Given the description of an element on the screen output the (x, y) to click on. 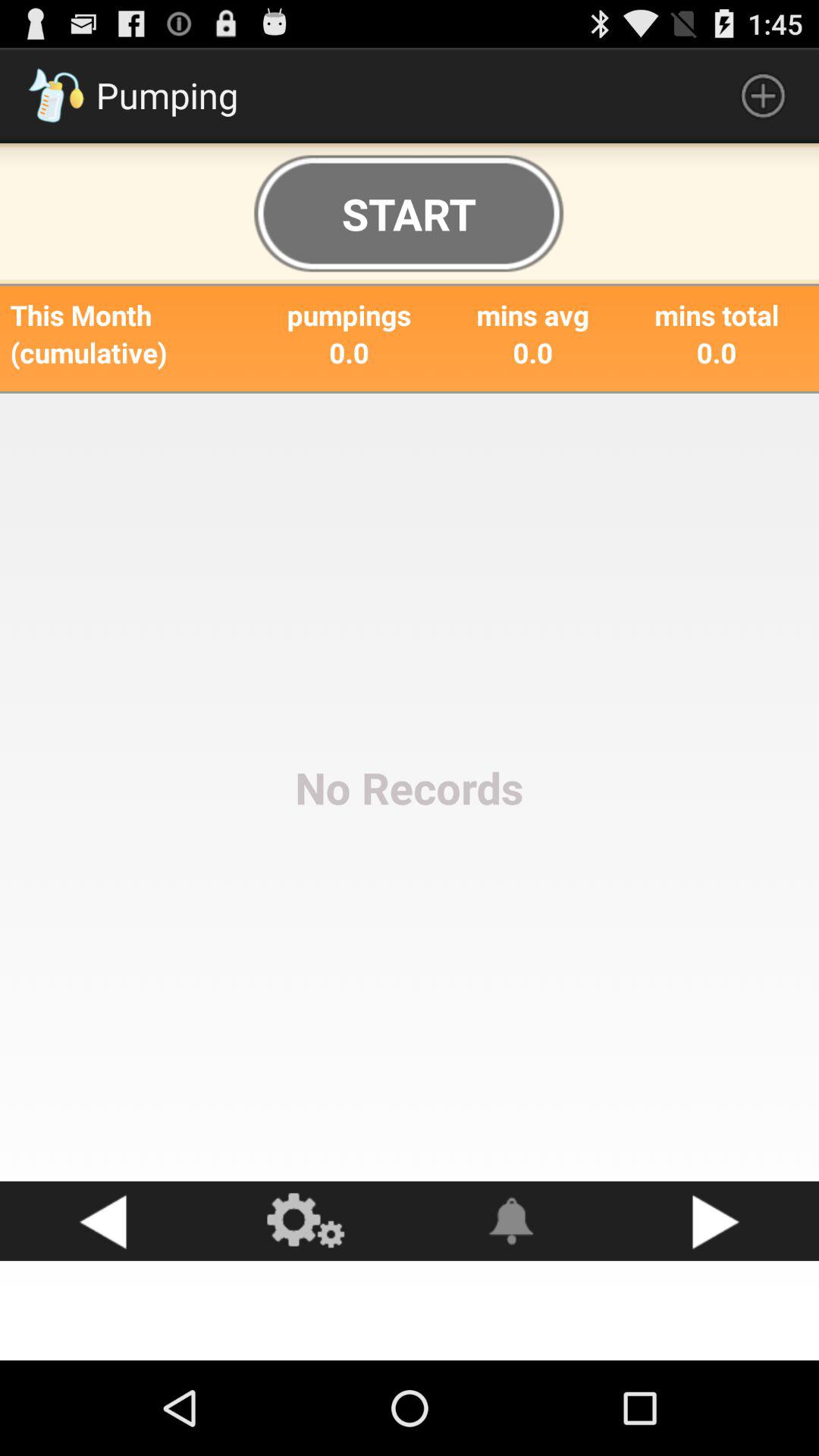
turn on the app below the no records icon (716, 1220)
